Given the description of an element on the screen output the (x, y) to click on. 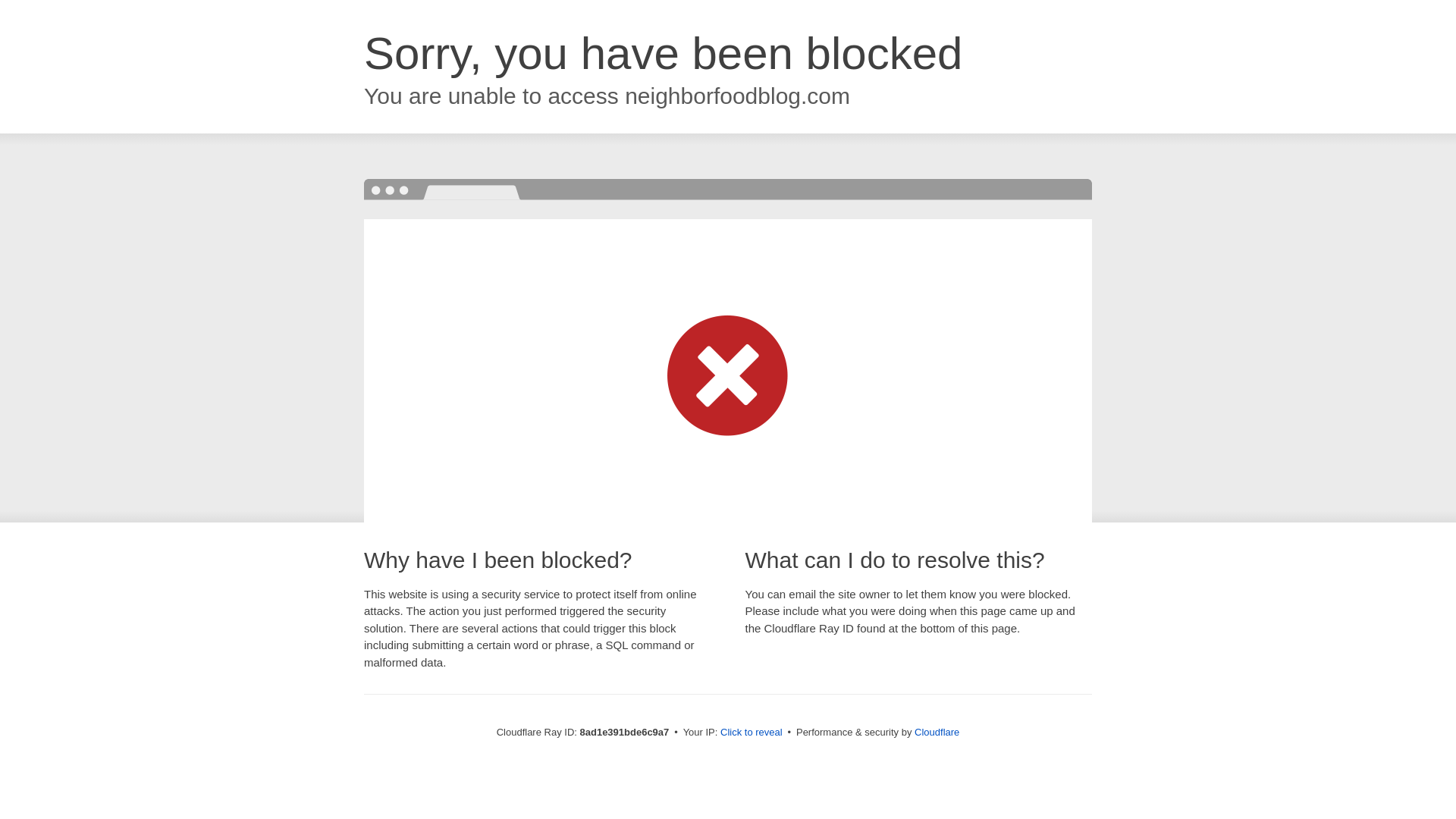
Cloudflare (936, 731)
Click to reveal (751, 732)
